Given the description of an element on the screen output the (x, y) to click on. 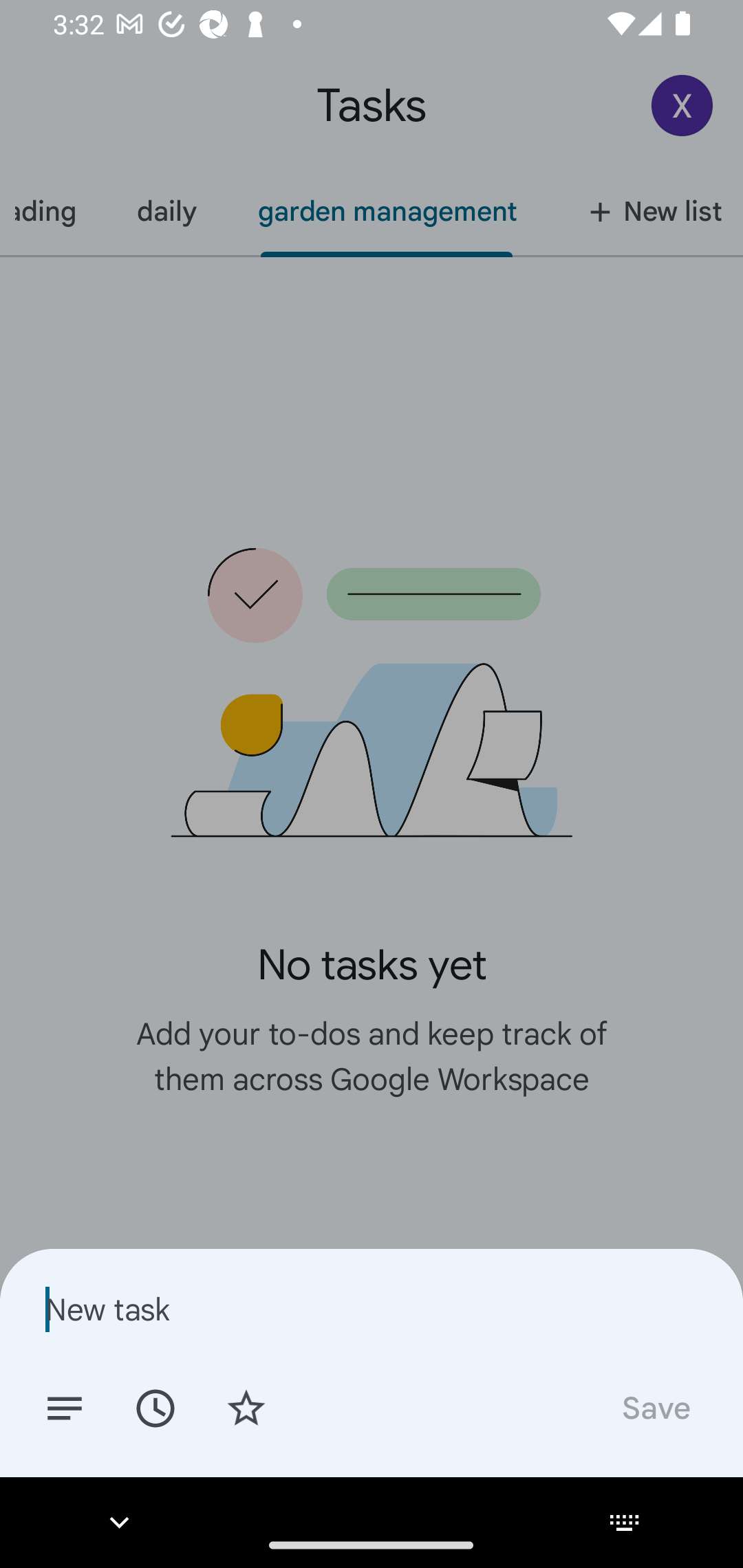
New task (371, 1308)
Save (655, 1407)
Add details (64, 1407)
Set date/time (154, 1407)
Add star (245, 1407)
